Given the description of an element on the screen output the (x, y) to click on. 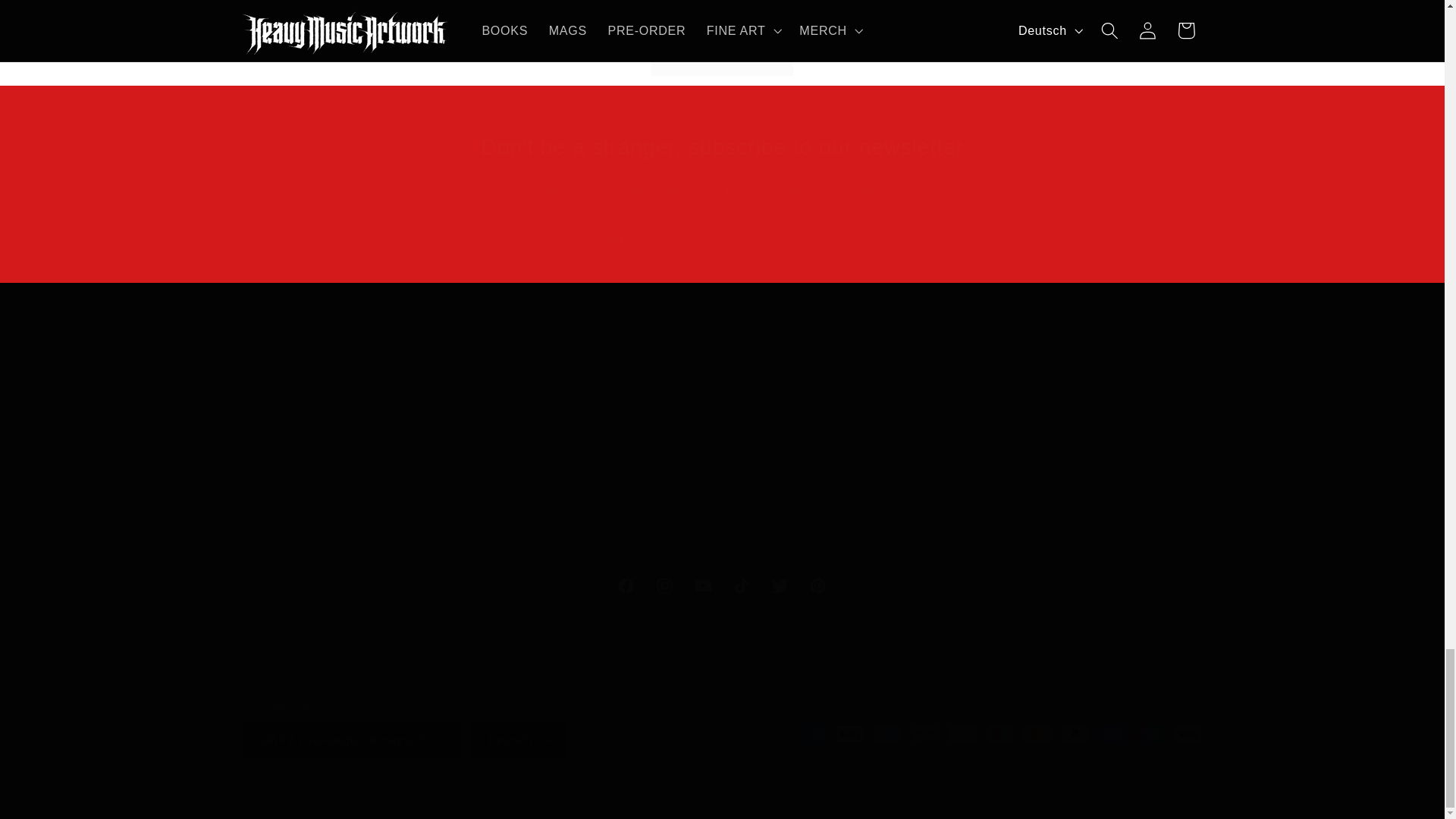
Don't be a stranger, subscribe to our newsletter (722, 586)
E-Mail (722, 147)
